Given the description of an element on the screen output the (x, y) to click on. 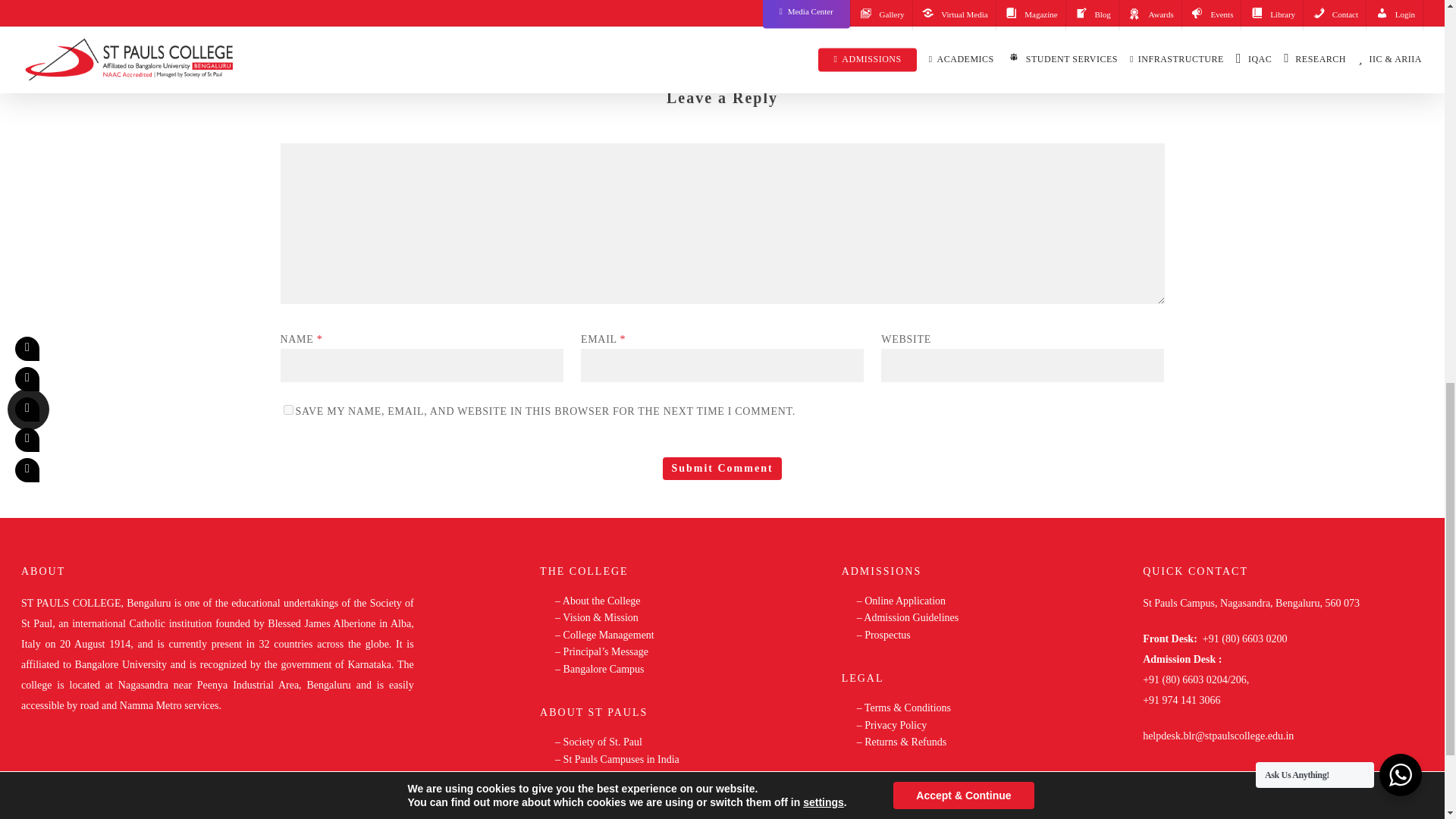
yes (288, 409)
Submit Comment (721, 468)
